Given the description of an element on the screen output the (x, y) to click on. 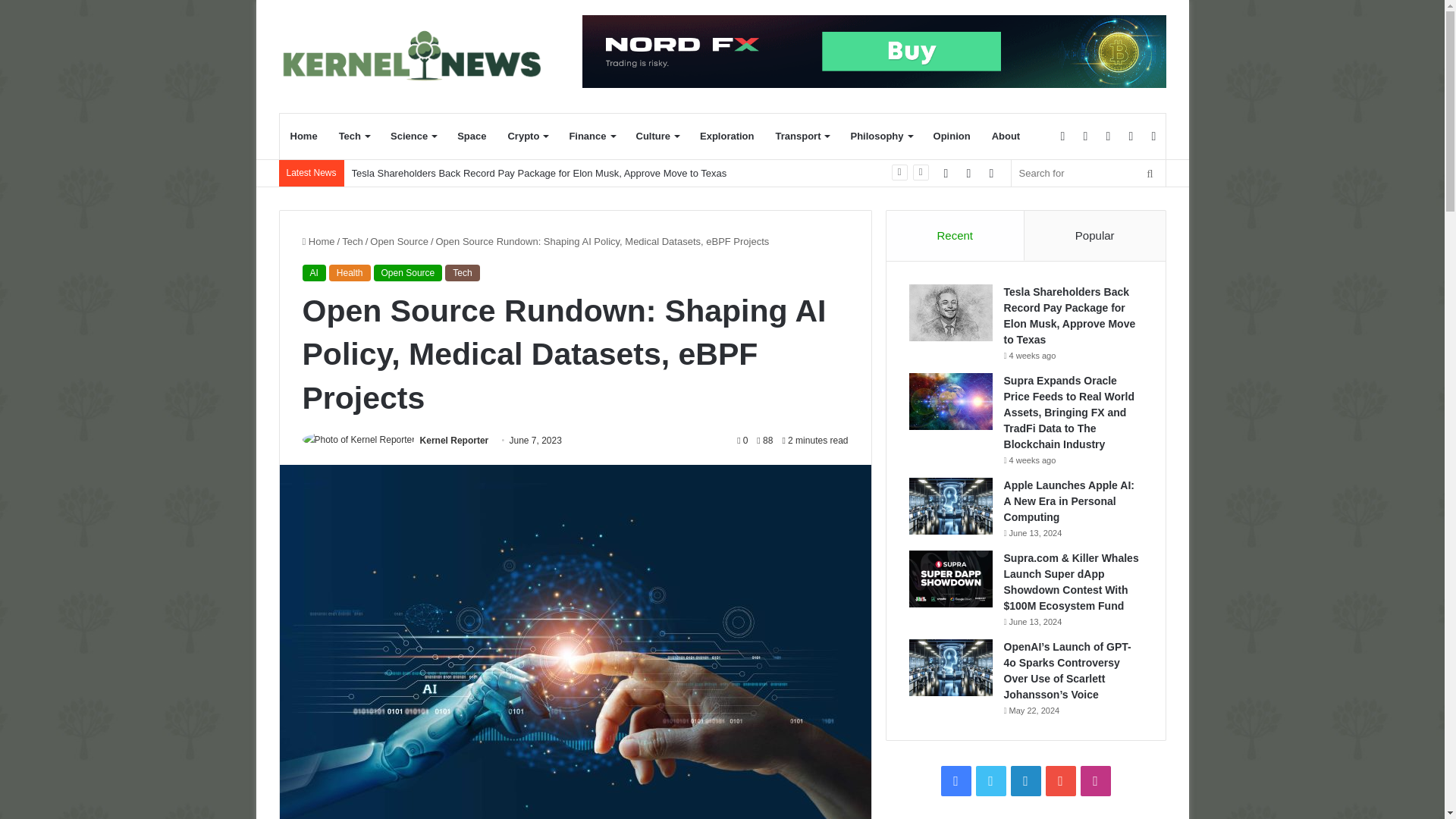
Culture (656, 135)
Space (471, 135)
Science (413, 135)
Crypto (526, 135)
Finance (590, 135)
Kernel News (419, 56)
Tech (354, 135)
Kernel Reporter (454, 439)
Search for (1088, 172)
Home (303, 135)
